Given the description of an element on the screen output the (x, y) to click on. 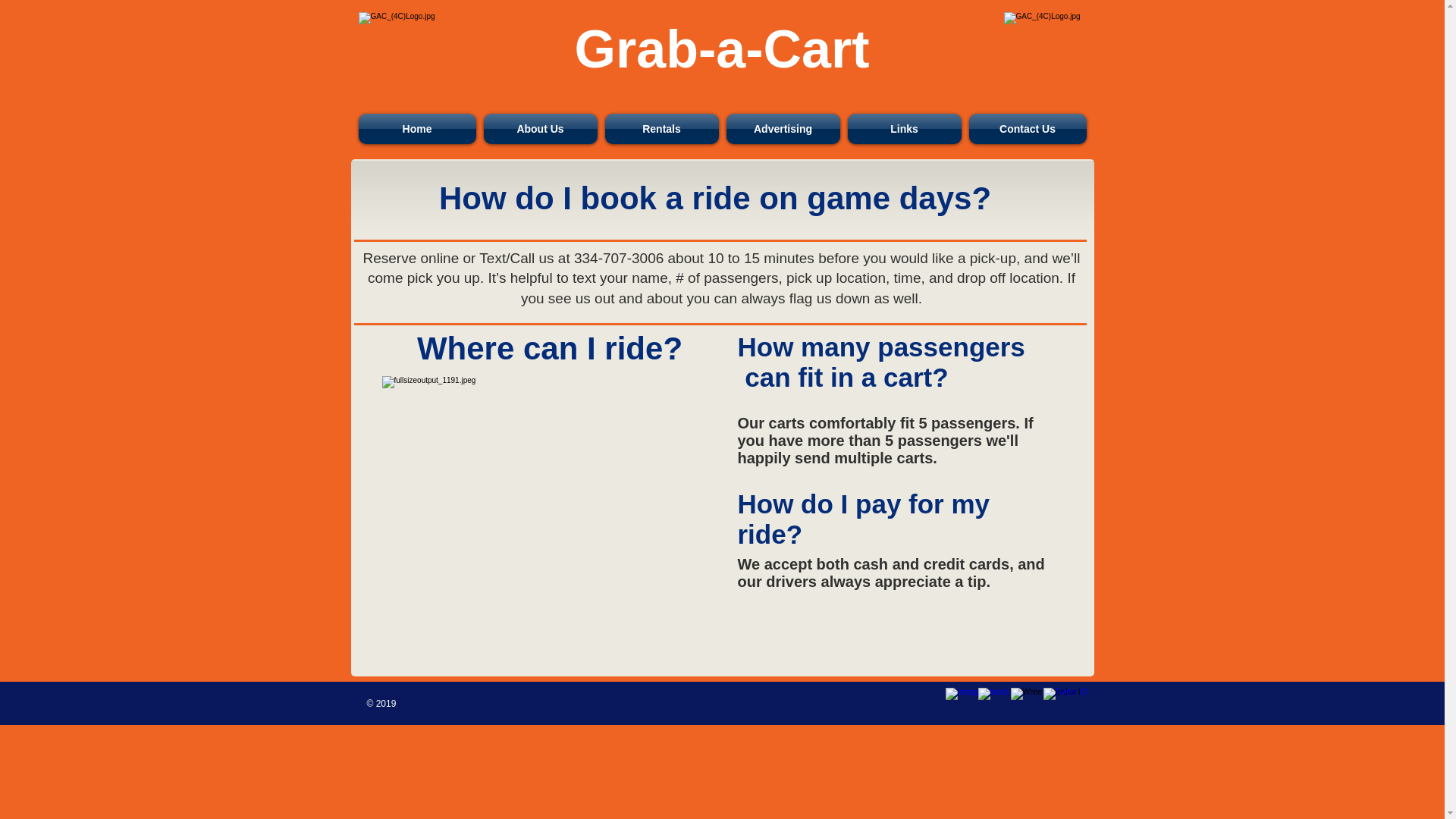
Home (418, 128)
About Us (539, 128)
Links (903, 128)
Rentals (660, 128)
Advertising (782, 128)
Contact Us (1024, 128)
